Given the description of an element on the screen output the (x, y) to click on. 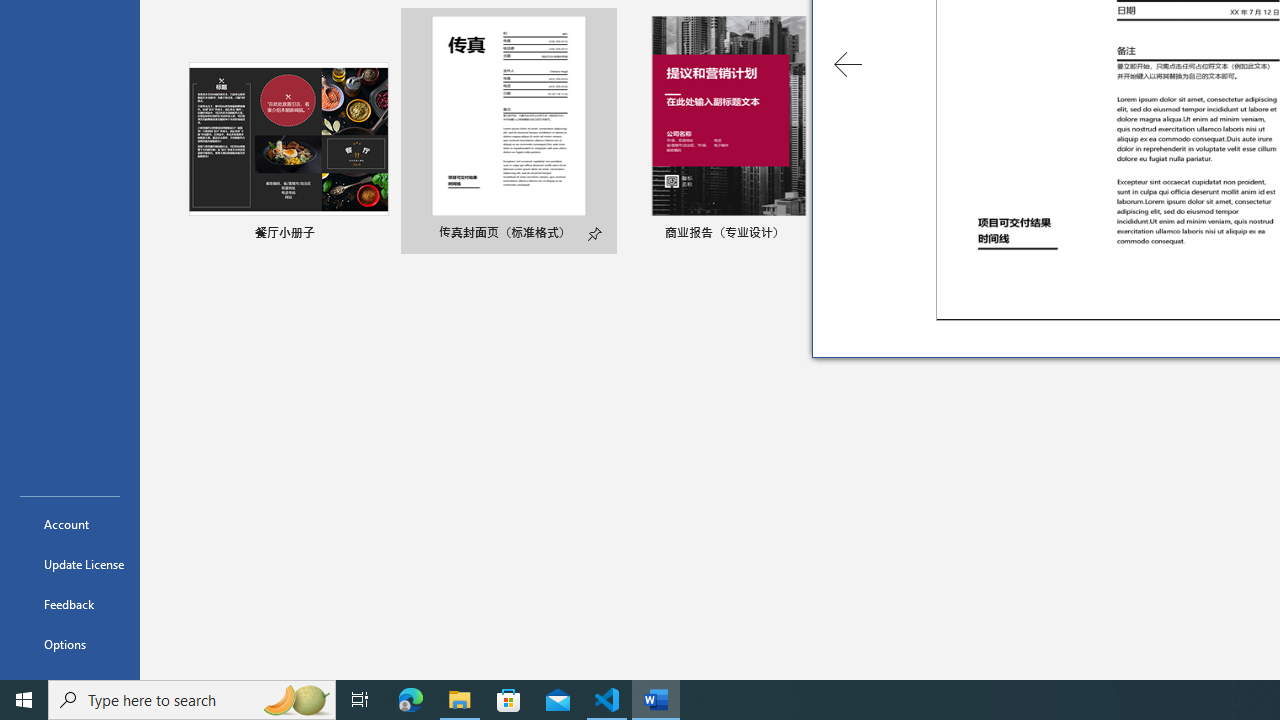
Pin to list (595, 234)
